Given the description of an element on the screen output the (x, y) to click on. 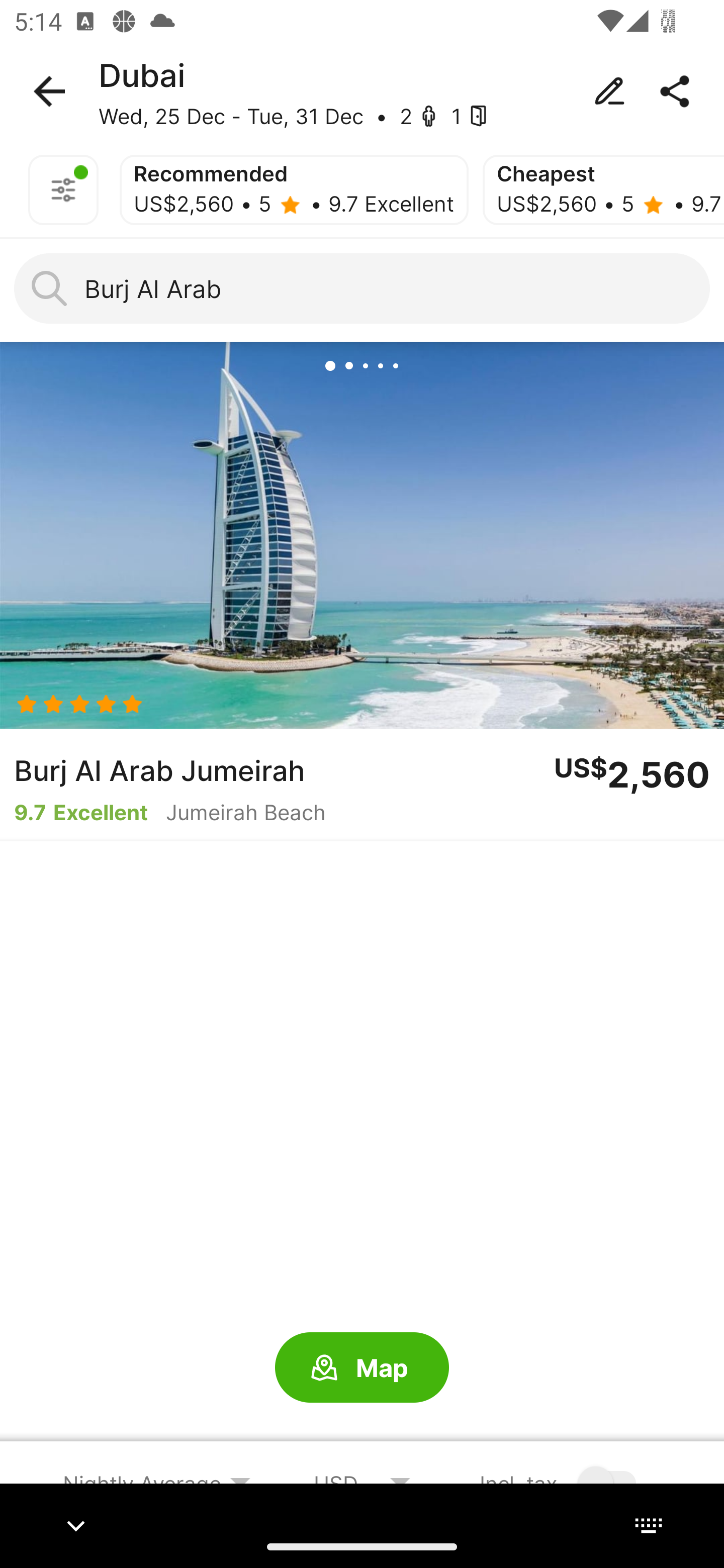
Dubai Wed, 25 Dec - Tue, 31 Dec  •  2 -  1 - (361, 91)
Recommended  US$2,560  • 5 - • 9.7 Excellent (293, 190)
Cheapest US$2,560  • 5 - • 9.7 Excellent (603, 190)
Burj Al Arab (361, 288)
Map  (361, 1367)
Nightly Average (156, 1482)
